Given the description of an element on the screen output the (x, y) to click on. 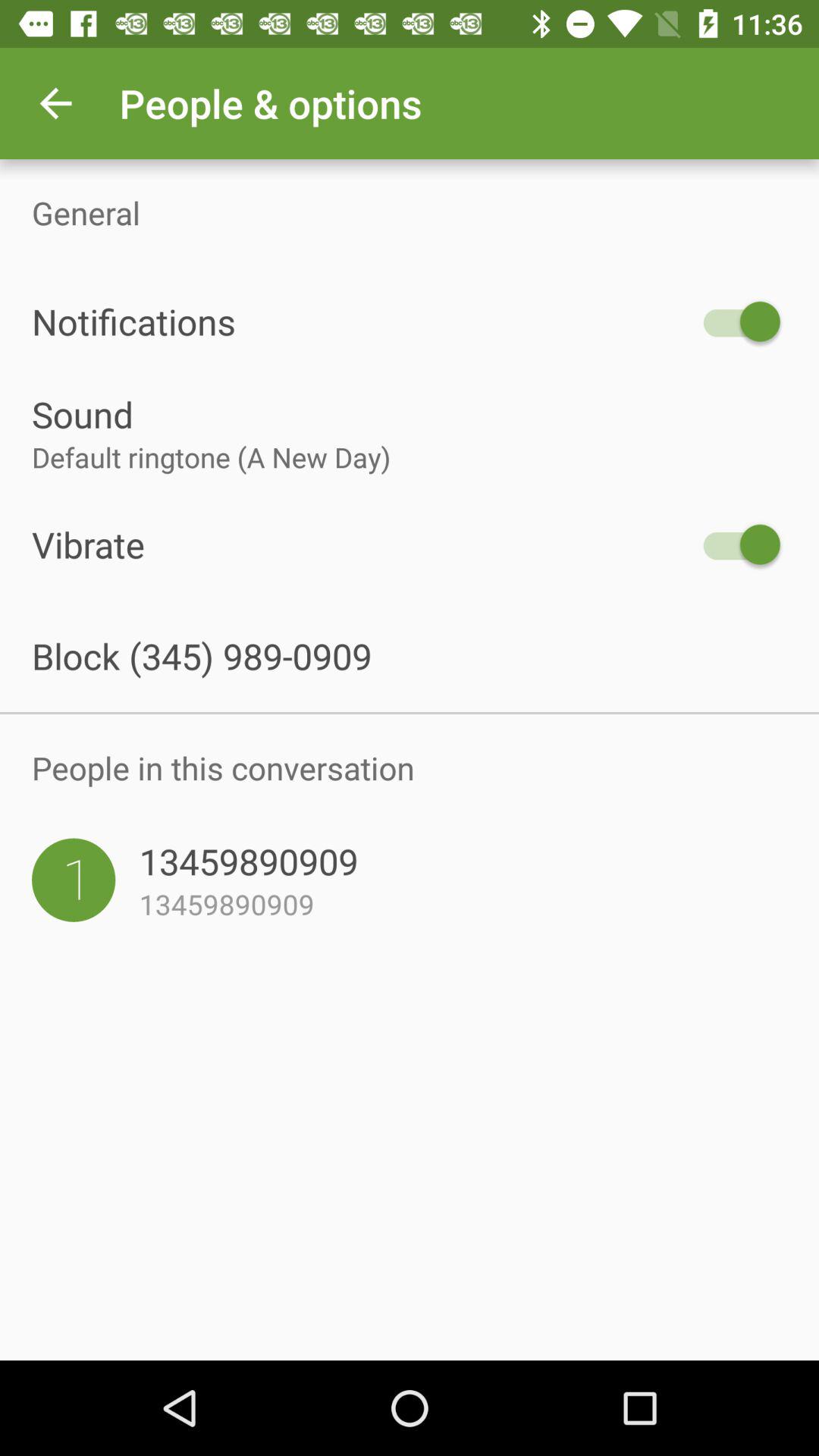
turn off block 345 989 item (409, 655)
